Given the description of an element on the screen output the (x, y) to click on. 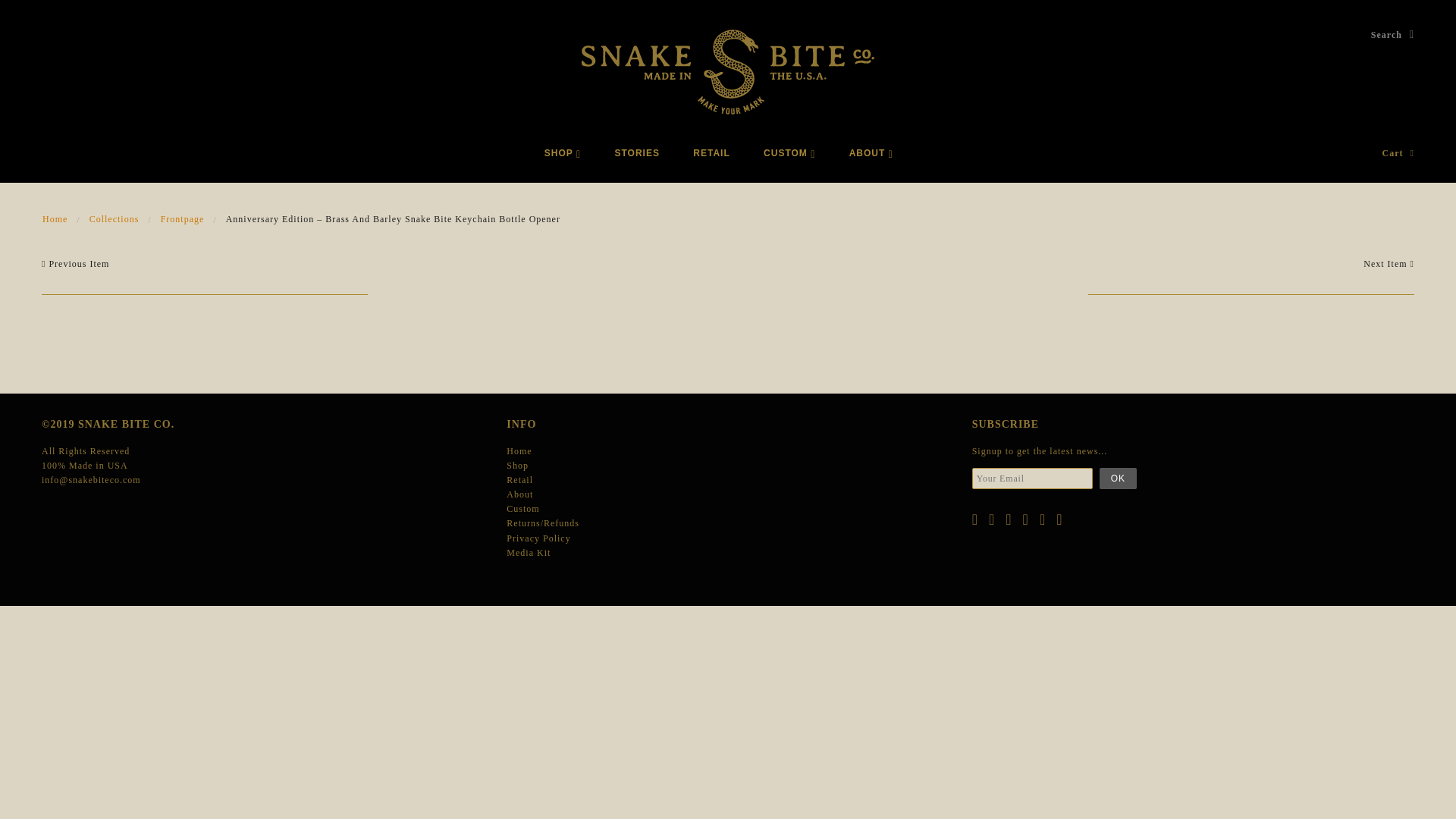
STORIES (636, 153)
Cart (1397, 153)
ABOUT (871, 153)
OK (1118, 477)
SHOP (562, 153)
CUSTOM (788, 153)
Search (1392, 34)
Snake Bite Co. (727, 71)
RETAIL (711, 153)
